Given the description of an element on the screen output the (x, y) to click on. 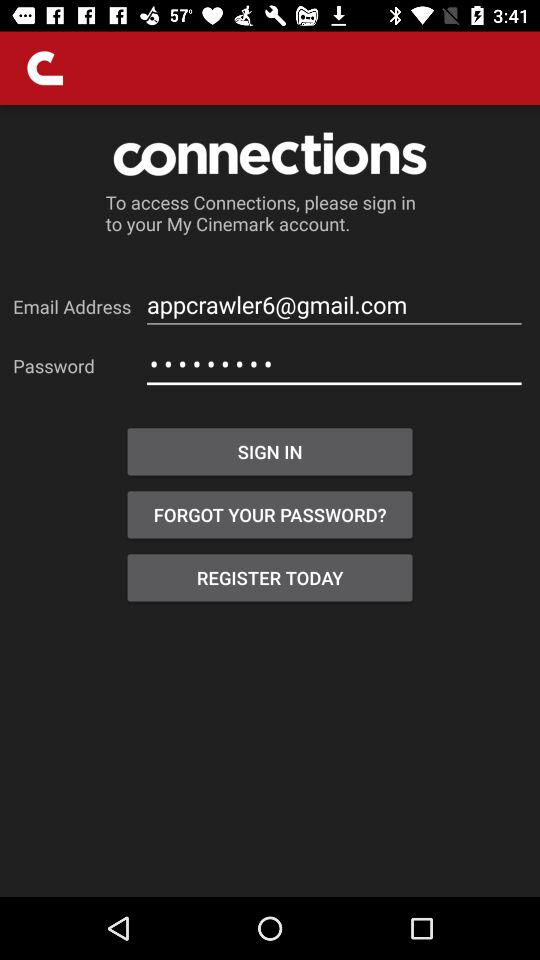
click the item above sign in icon (333, 364)
